Given the description of an element on the screen output the (x, y) to click on. 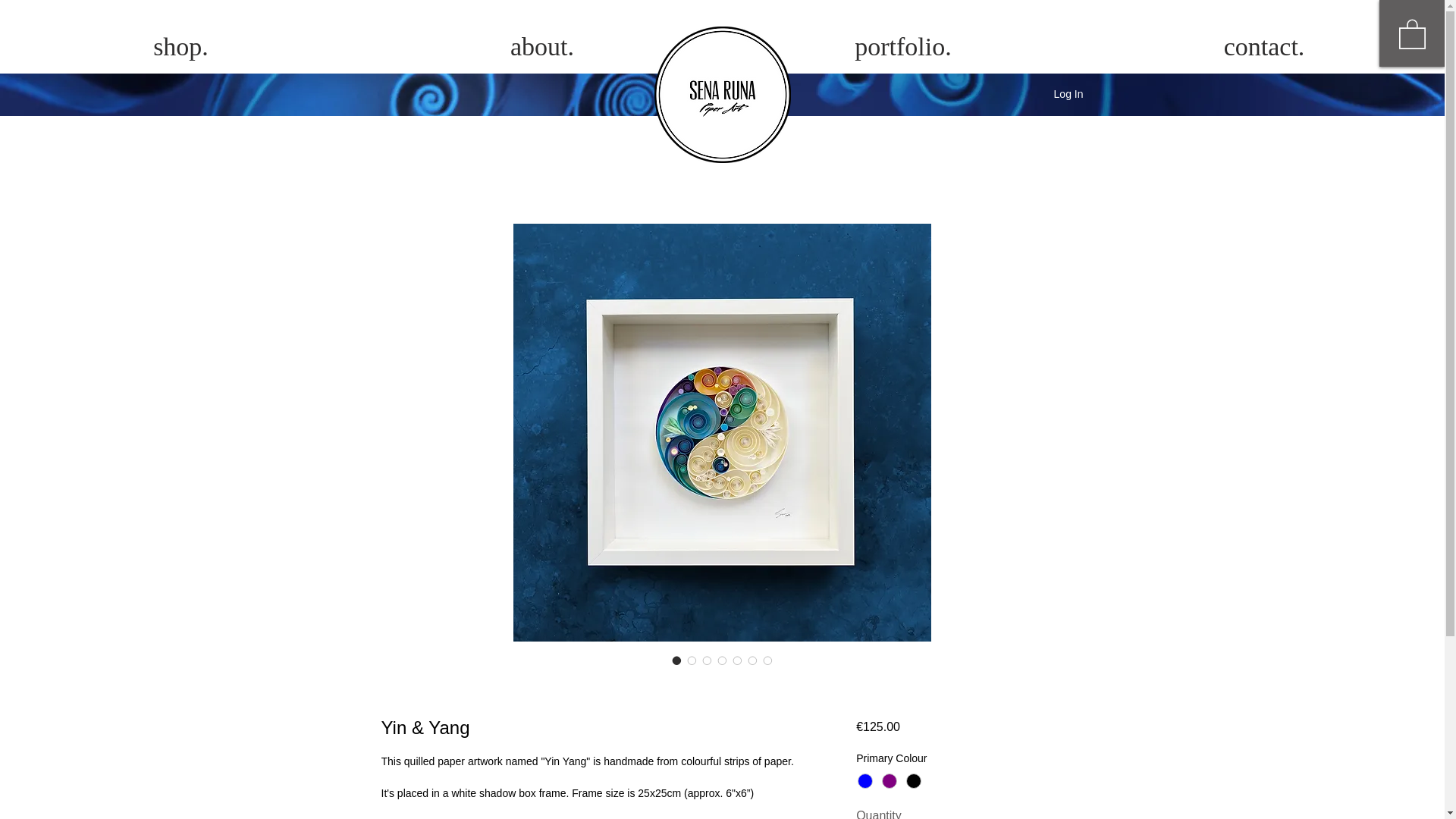
shop. (180, 46)
portfolio. (902, 46)
Sena Runa Paper Art Logo (721, 94)
about. (541, 46)
Log In (1068, 94)
